Given the description of an element on the screen output the (x, y) to click on. 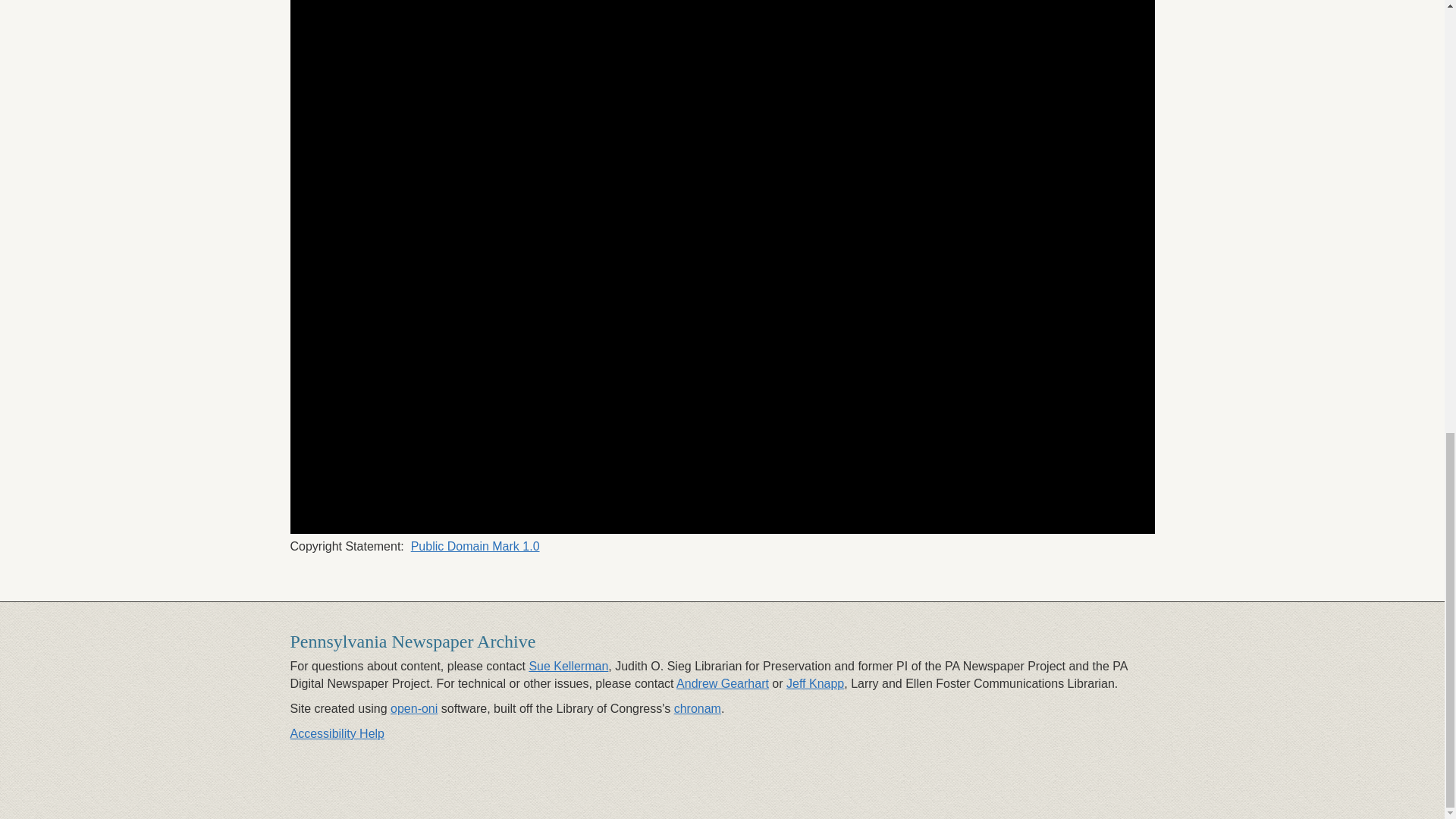
Public Domain Mark 1.0 (475, 545)
Sue Kellerman (568, 666)
Accessibility Help (336, 733)
Jeff Knapp (815, 683)
open-oni (414, 707)
chronam (697, 707)
Andrew Gearhart (722, 683)
